Given the description of an element on the screen output the (x, y) to click on. 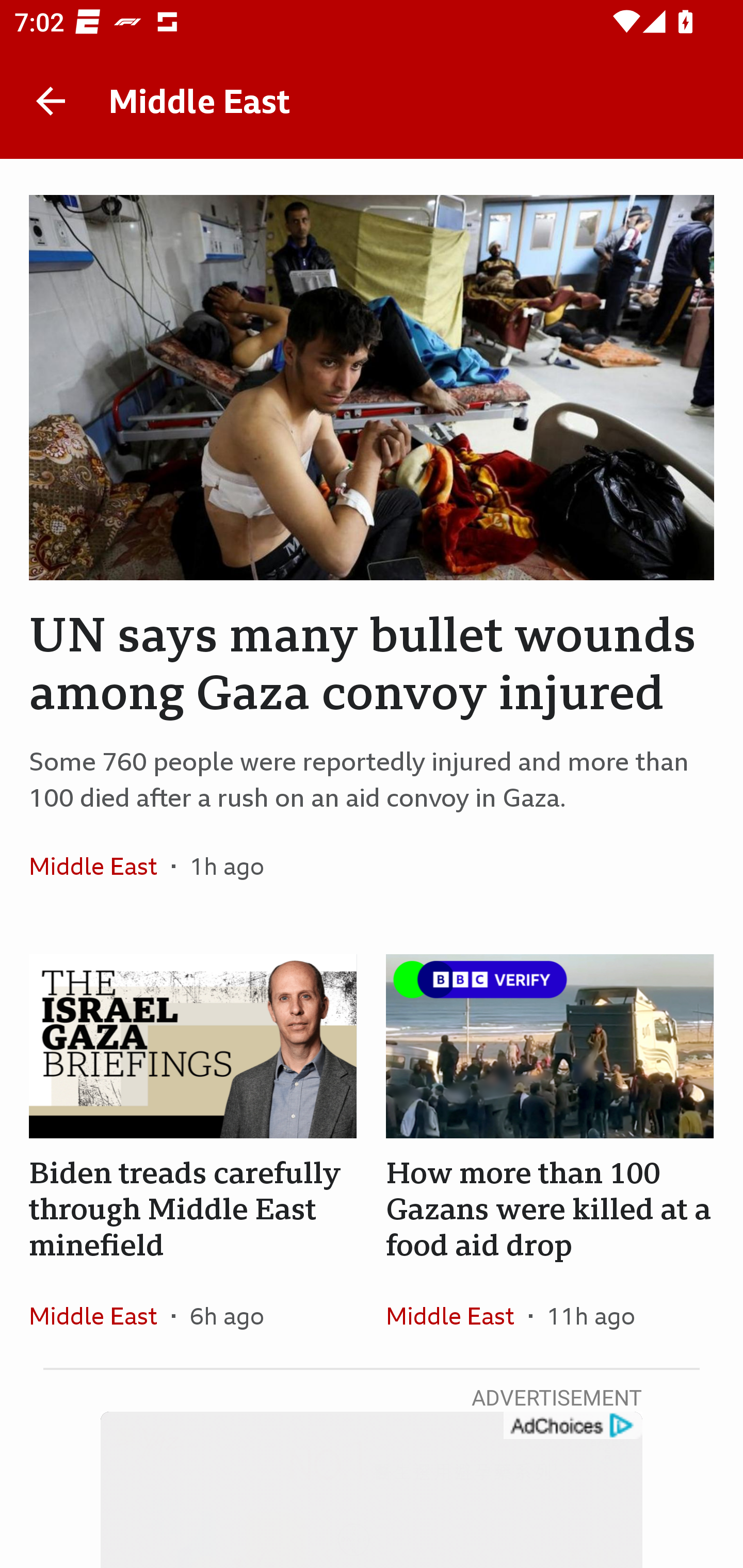
Back (50, 101)
Middle East In the section Middle East (99, 865)
Middle East In the section Middle East (99, 1315)
Middle East In the section Middle East (457, 1315)
Video Player get?name=admarker-full-tl   (371, 1489)
get?name=admarker-full-tl (571, 1425)
